Given the description of an element on the screen output the (x, y) to click on. 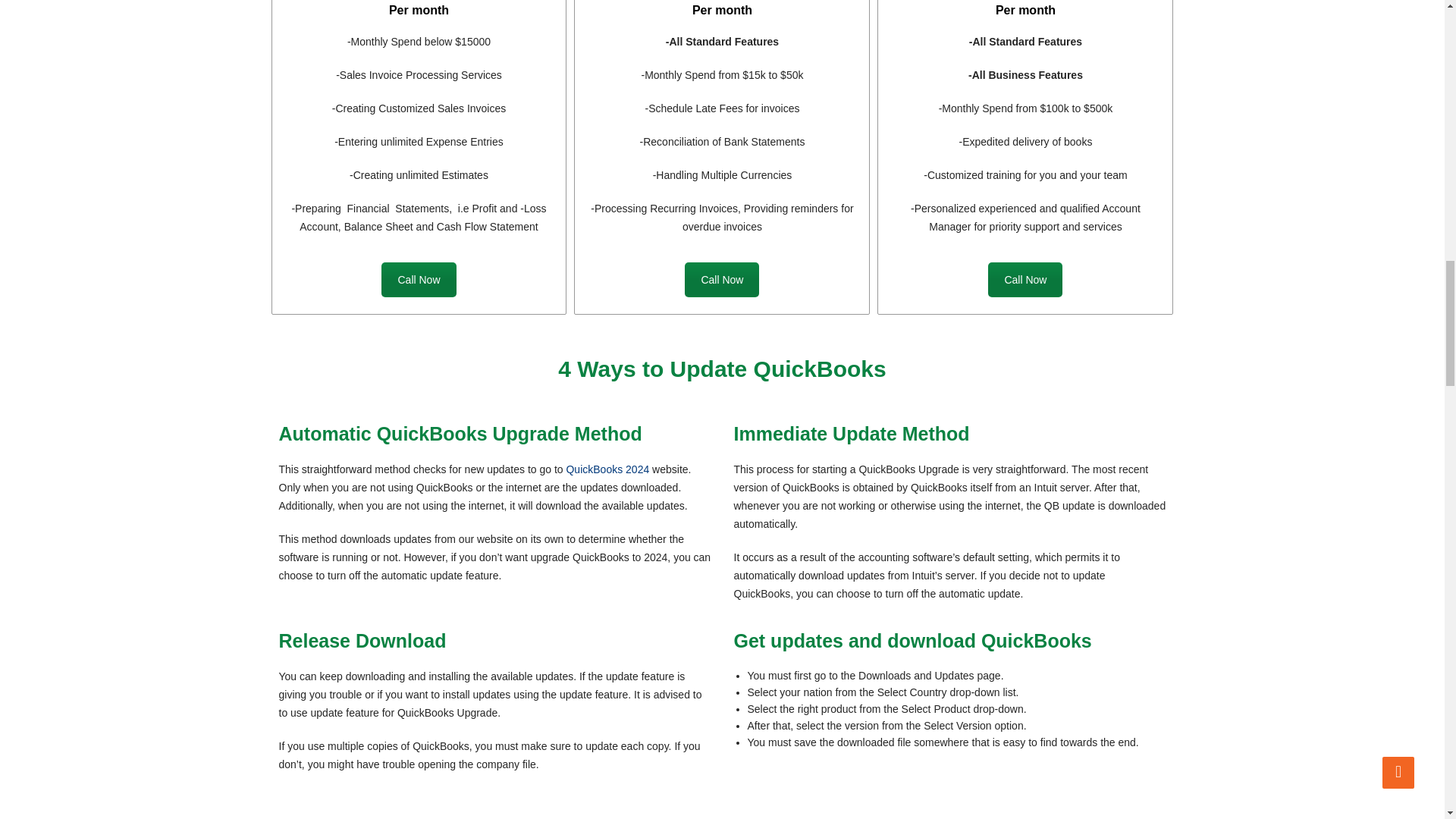
Call Now (1025, 279)
Call Now (721, 279)
Call Now (418, 279)
QuickBooks 2024 (607, 469)
